Given the description of an element on the screen output the (x, y) to click on. 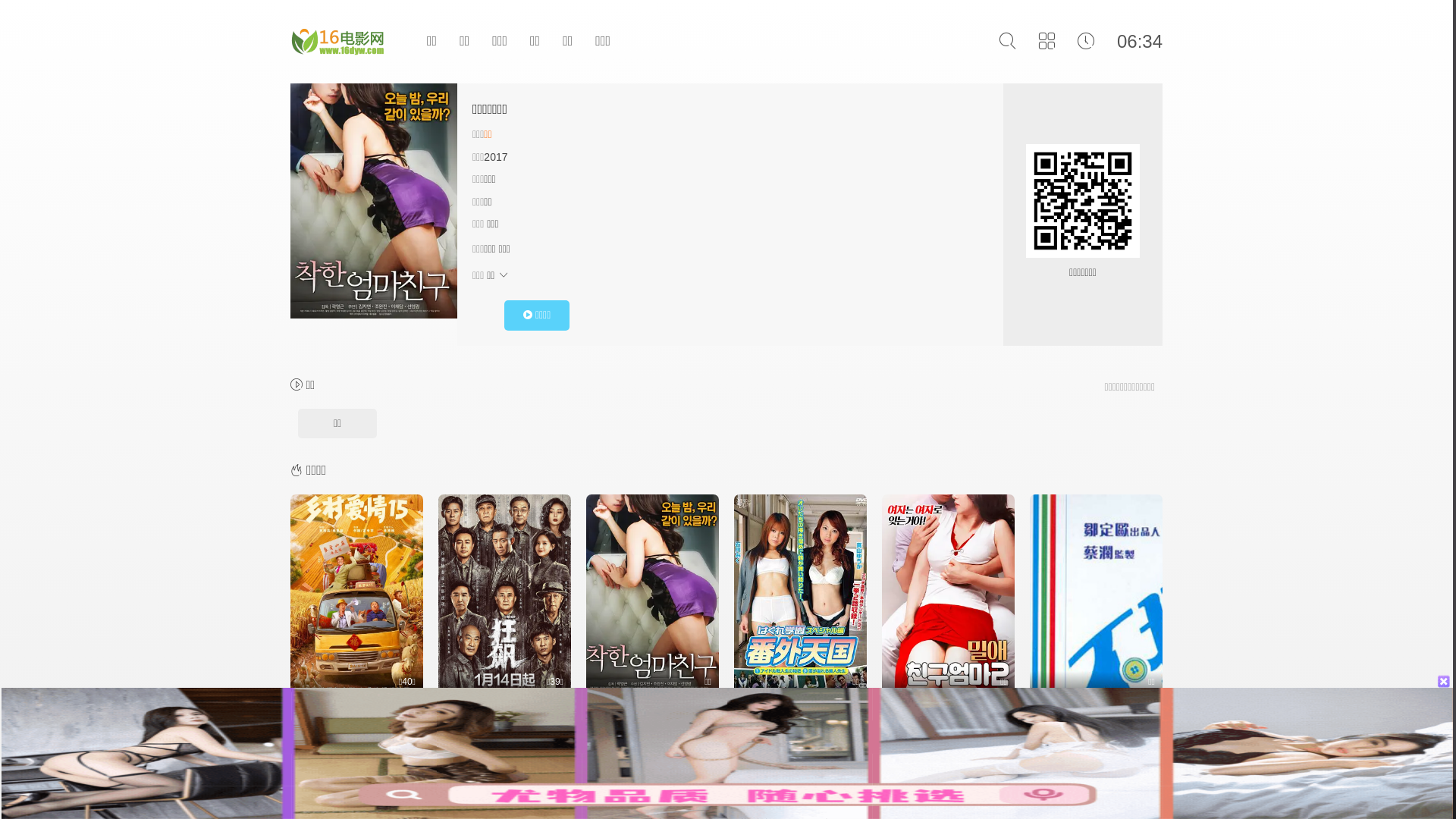
RSS Element type: text (608, 777)
GoogleXML Element type: text (750, 777)
360XML Element type: text (802, 777)
2017 Element type: text (495, 156)
